Given the description of an element on the screen output the (x, y) to click on. 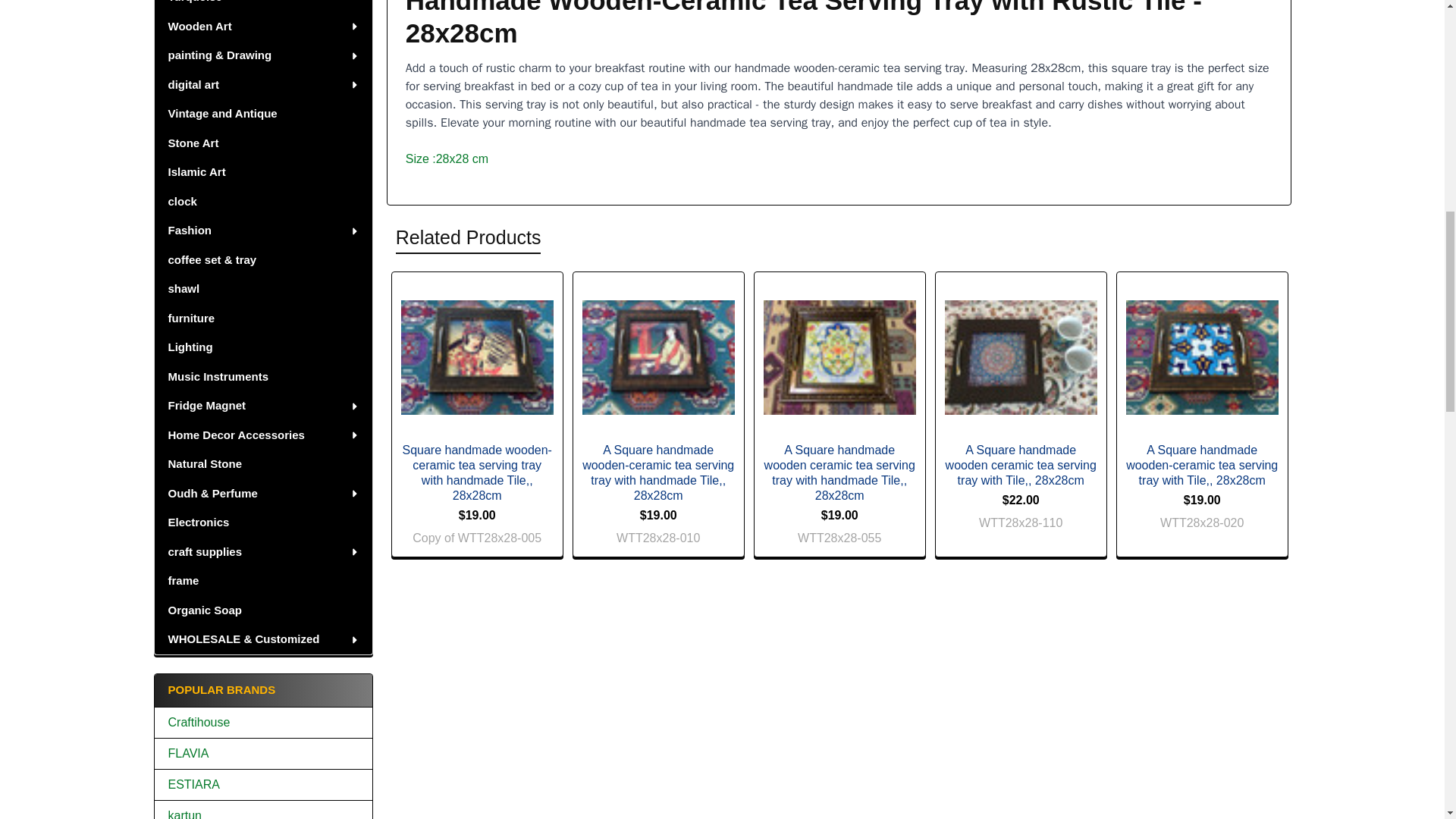
ceramic tray (838, 357)
kartun (263, 812)
Craftihouse (263, 722)
FLAVIA (263, 753)
serving tray (658, 357)
tray with handmade Tile (477, 357)
ESTIARA (263, 784)
